Given the description of an element on the screen output the (x, y) to click on. 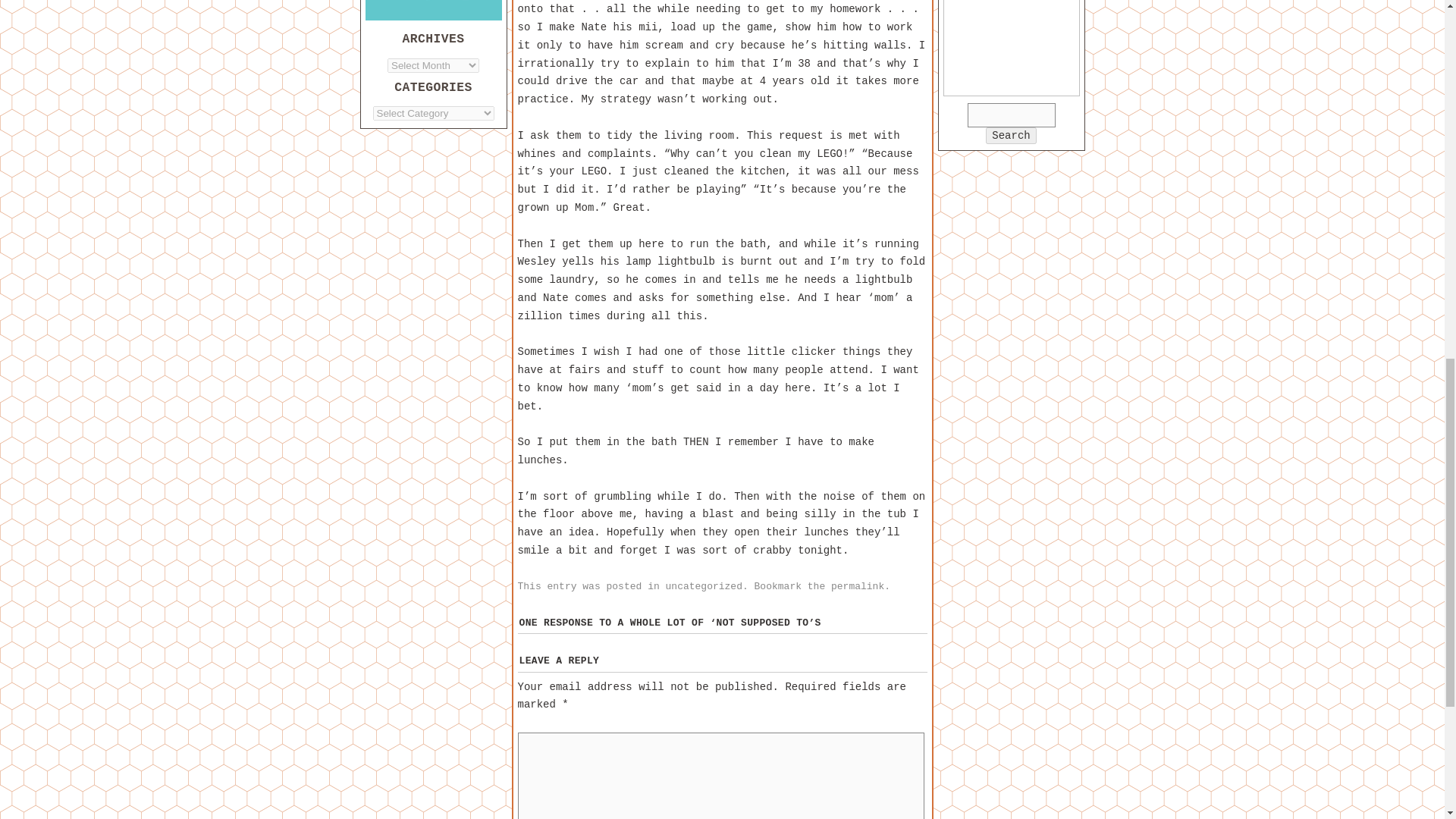
Search (1010, 135)
permalink (857, 586)
uncategorized (703, 586)
Search (1010, 135)
